Given the description of an element on the screen output the (x, y) to click on. 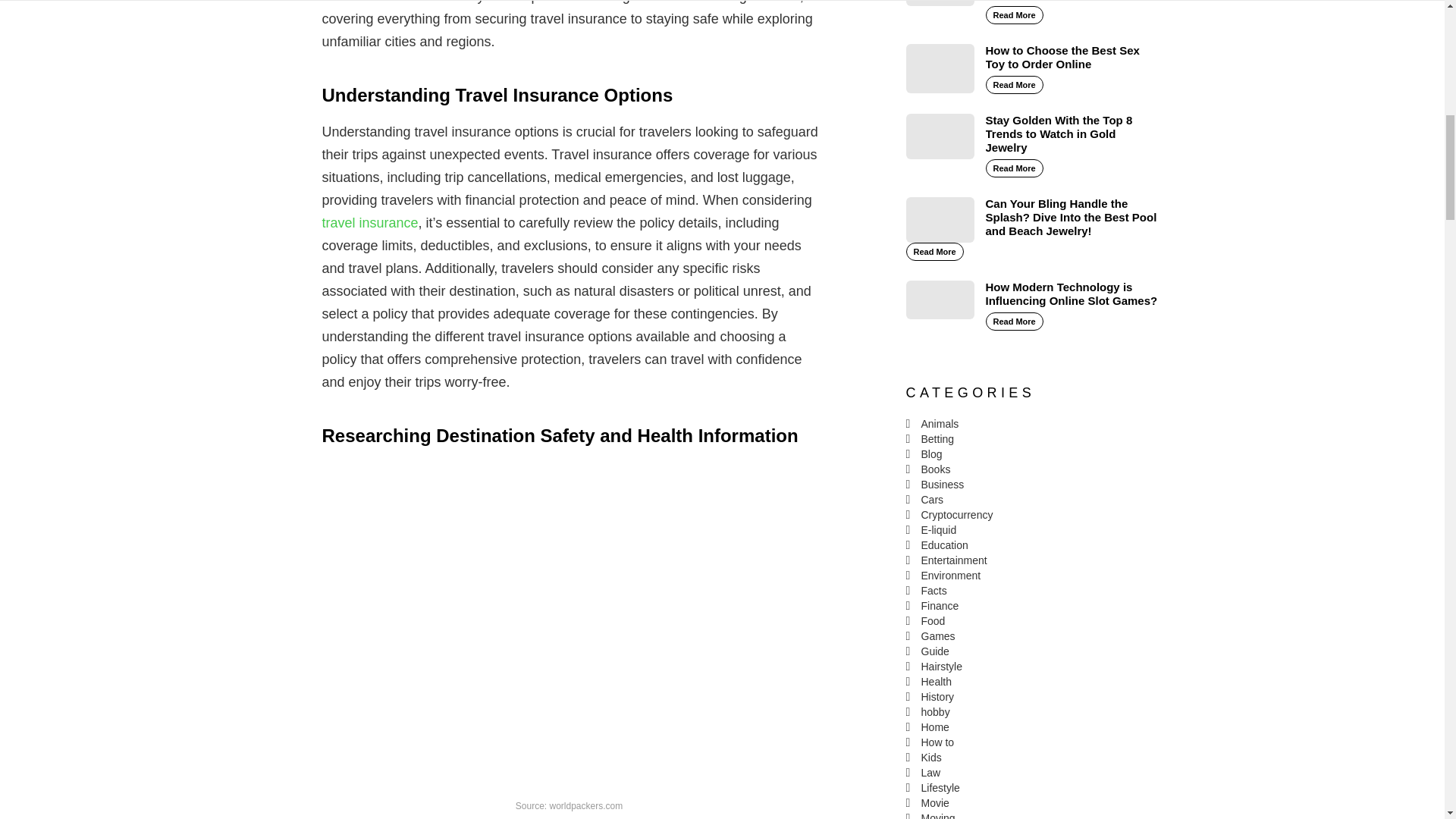
travel insurance (369, 222)
